Given the description of an element on the screen output the (x, y) to click on. 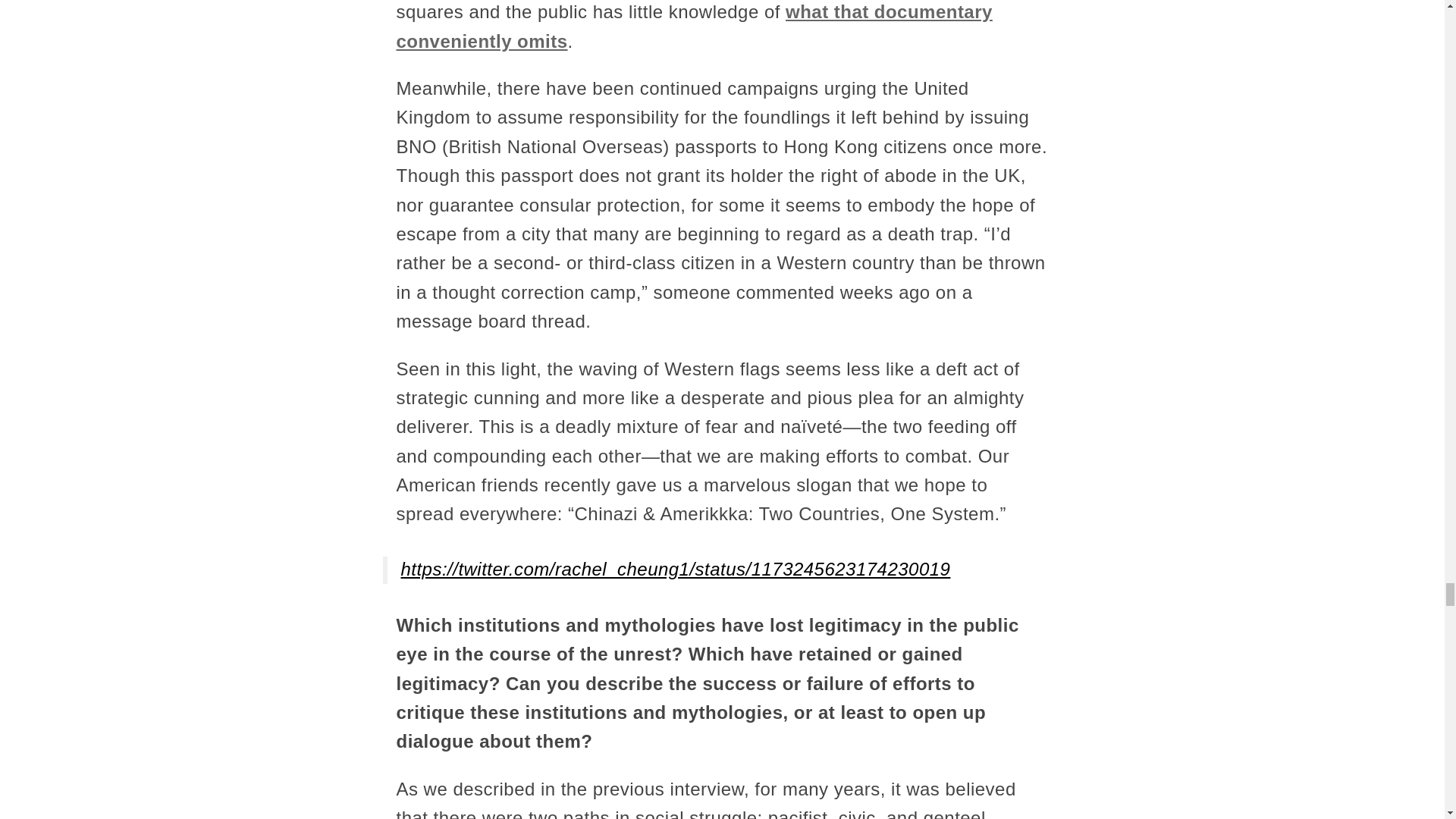
what that documentary conveniently omits (693, 25)
